Given the description of an element on the screen output the (x, y) to click on. 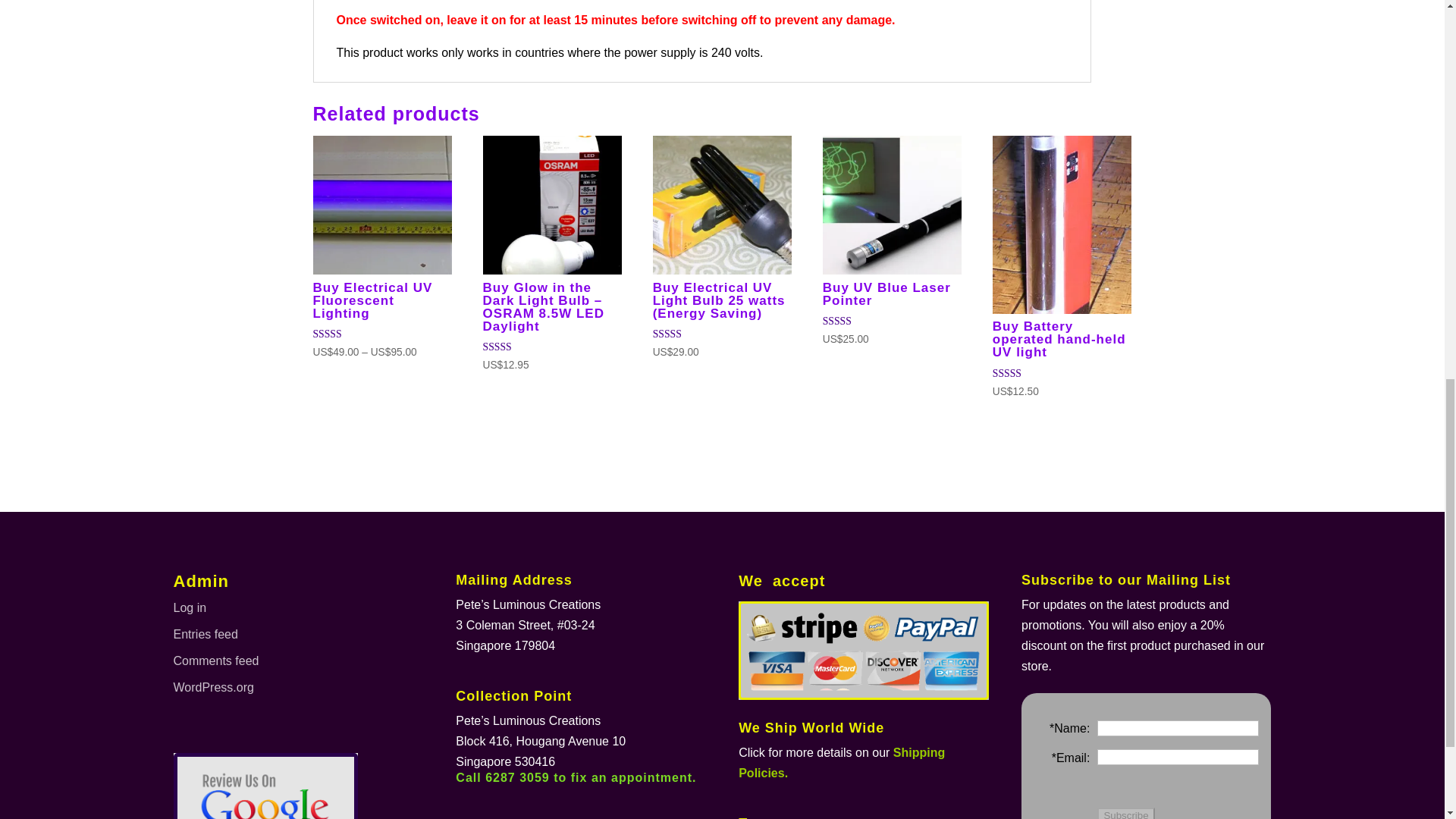
Review us on Google (266, 787)
paymtnt-method (863, 650)
Subscribe (1125, 813)
